Given the description of an element on the screen output the (x, y) to click on. 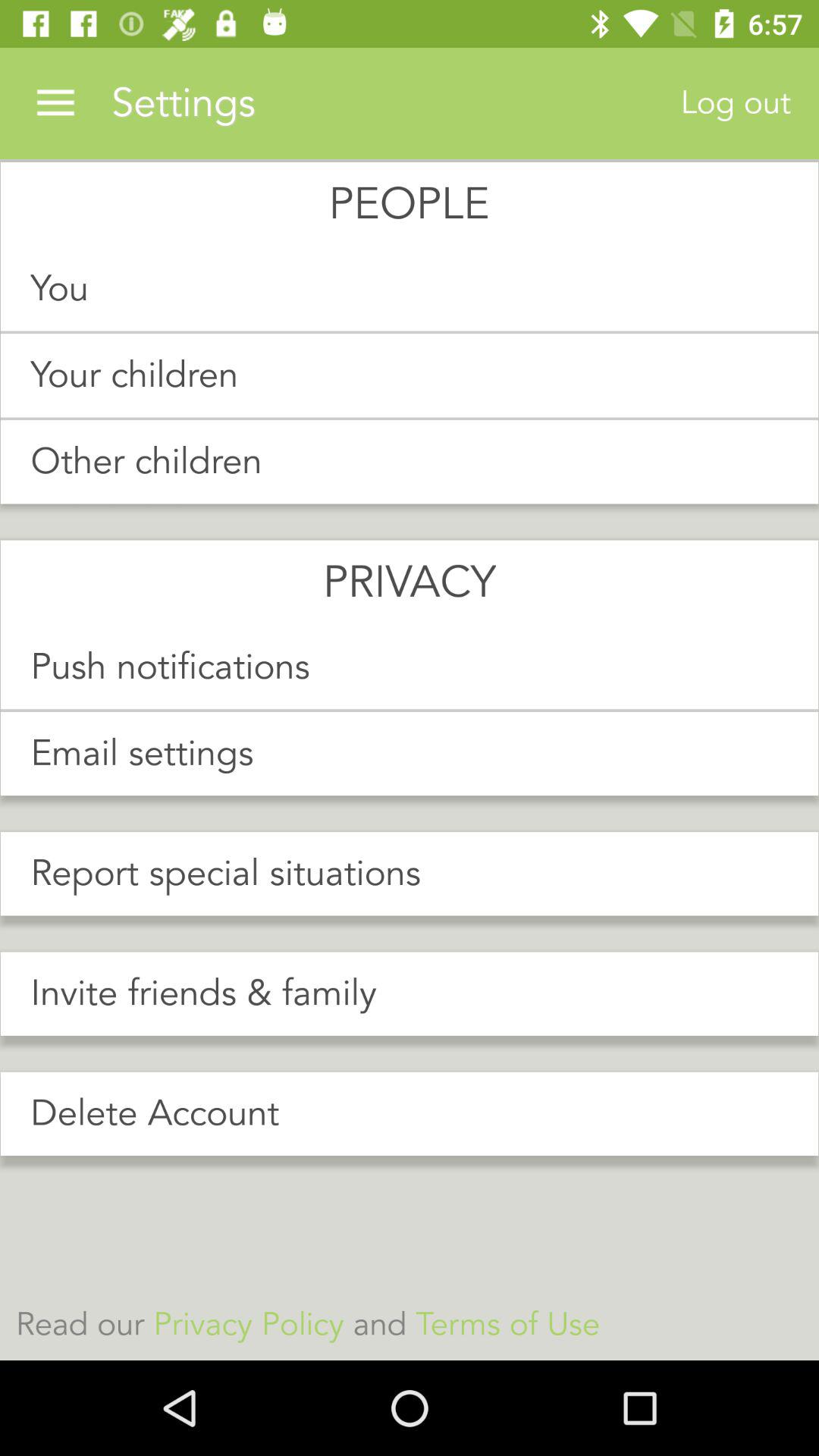
launch read our privacy (409, 1324)
